Given the description of an element on the screen output the (x, y) to click on. 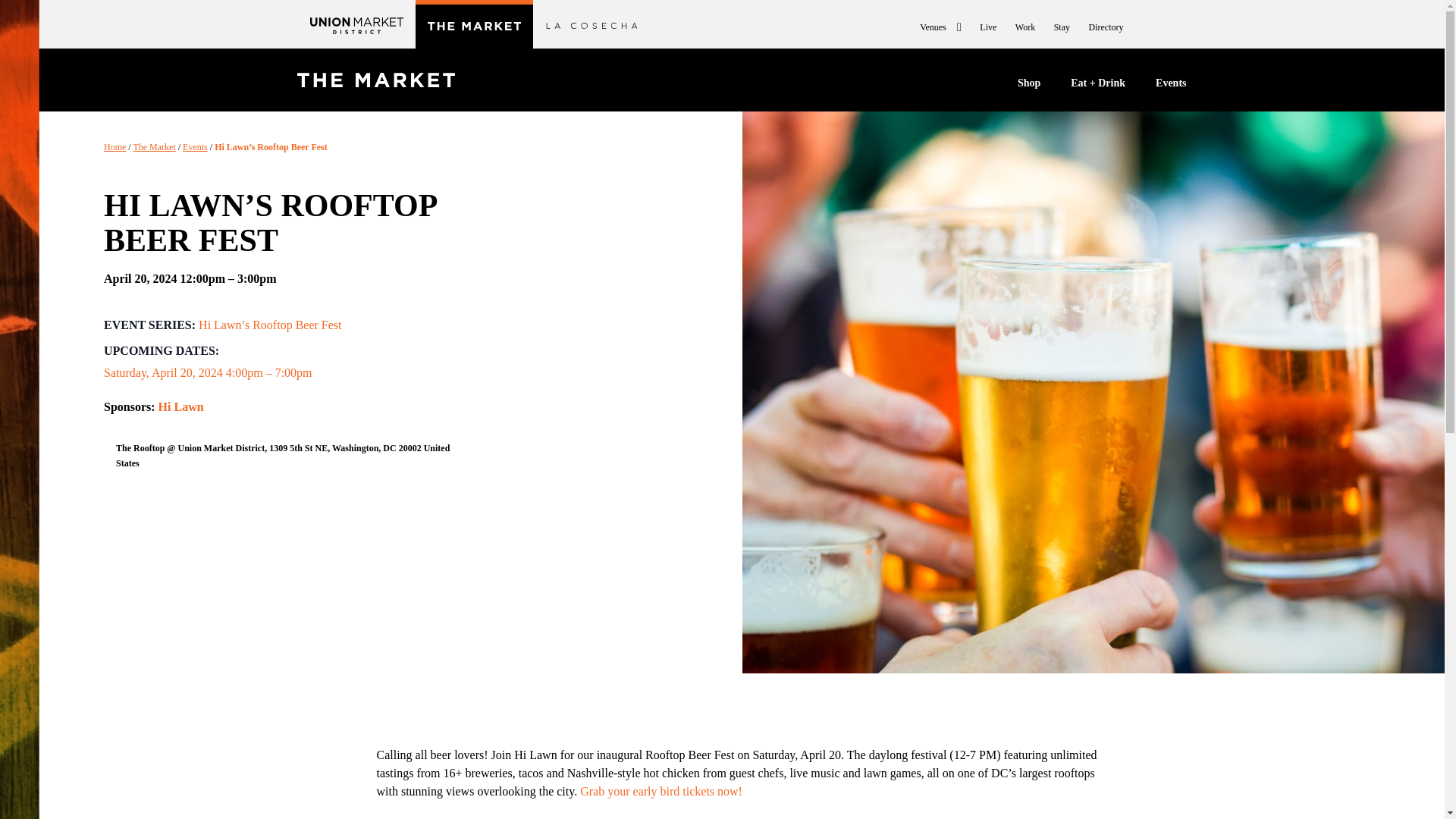
The Market (153, 146)
Work (1024, 27)
District of Columbia (389, 448)
Live (987, 27)
Venues (940, 27)
Directory (1106, 27)
Home (114, 146)
